Given the description of an element on the screen output the (x, y) to click on. 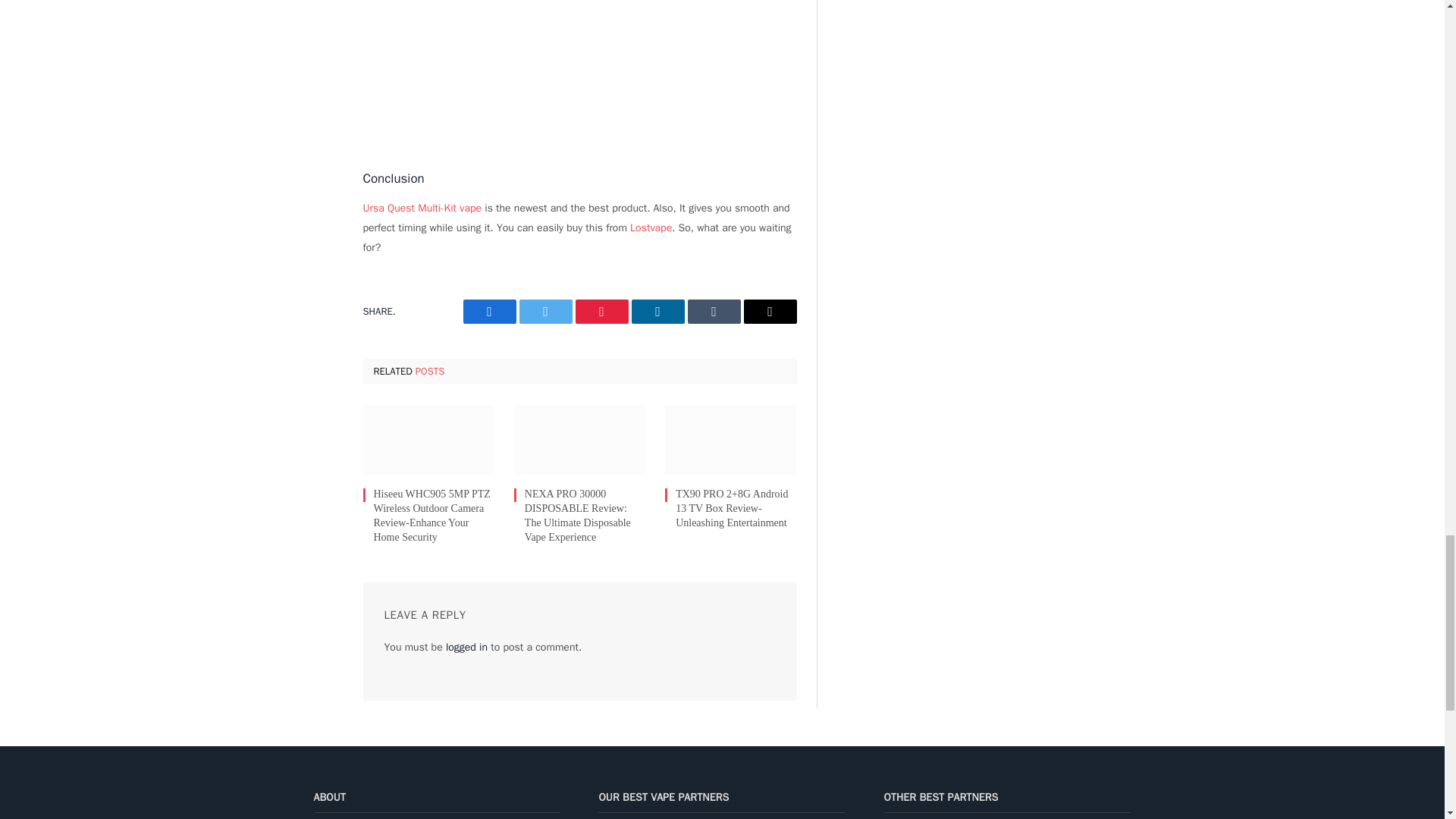
Share on Twitter (545, 310)
Share on Facebook (489, 310)
Share on Pinterest (601, 310)
